Given the description of an element on the screen output the (x, y) to click on. 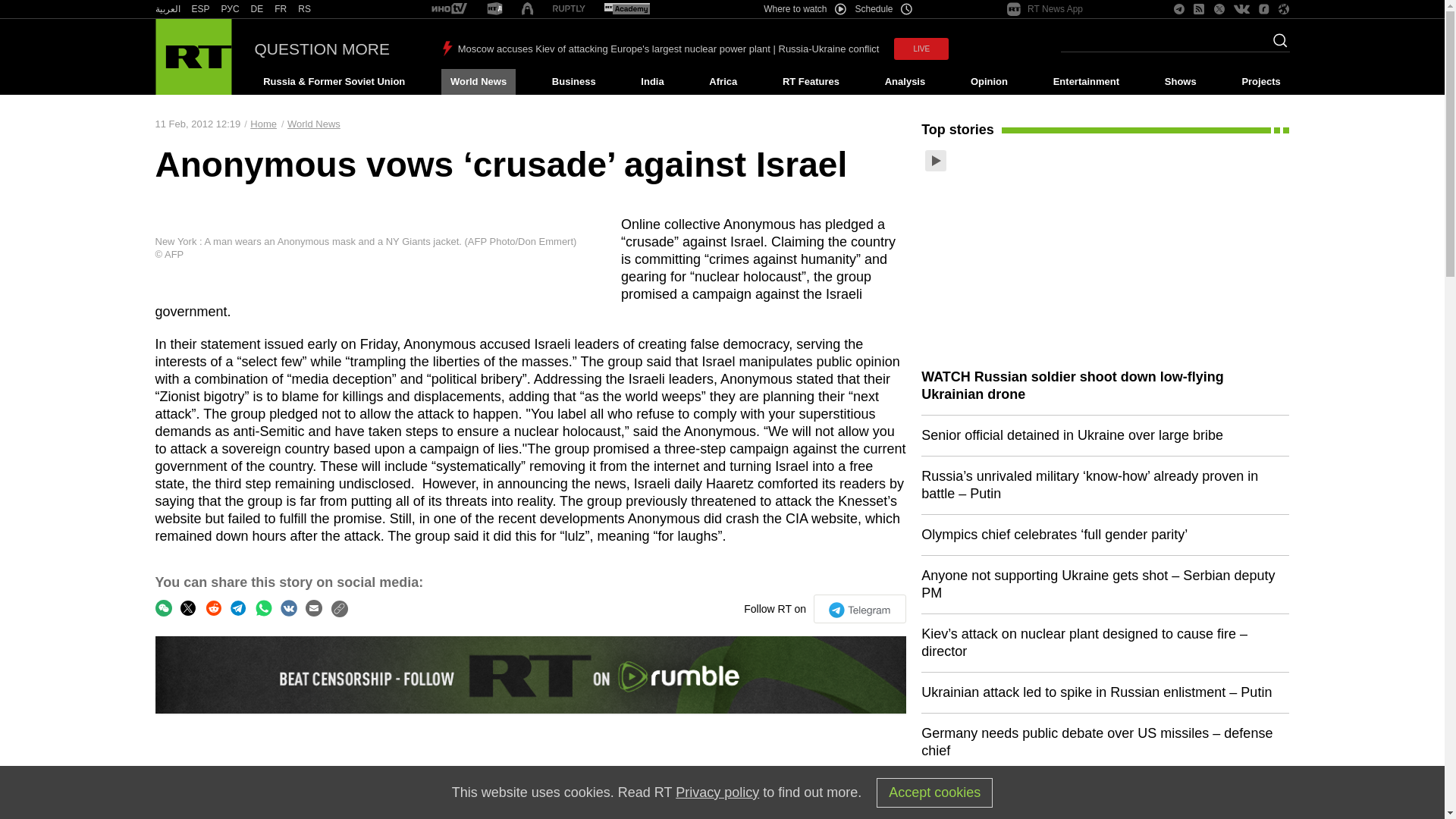
Entertainment (1085, 81)
Business (573, 81)
RS (304, 9)
Projects (1261, 81)
Schedule (884, 9)
Analysis (905, 81)
RT  (569, 8)
ESP (199, 9)
RT  (448, 9)
India (651, 81)
